Given the description of an element on the screen output the (x, y) to click on. 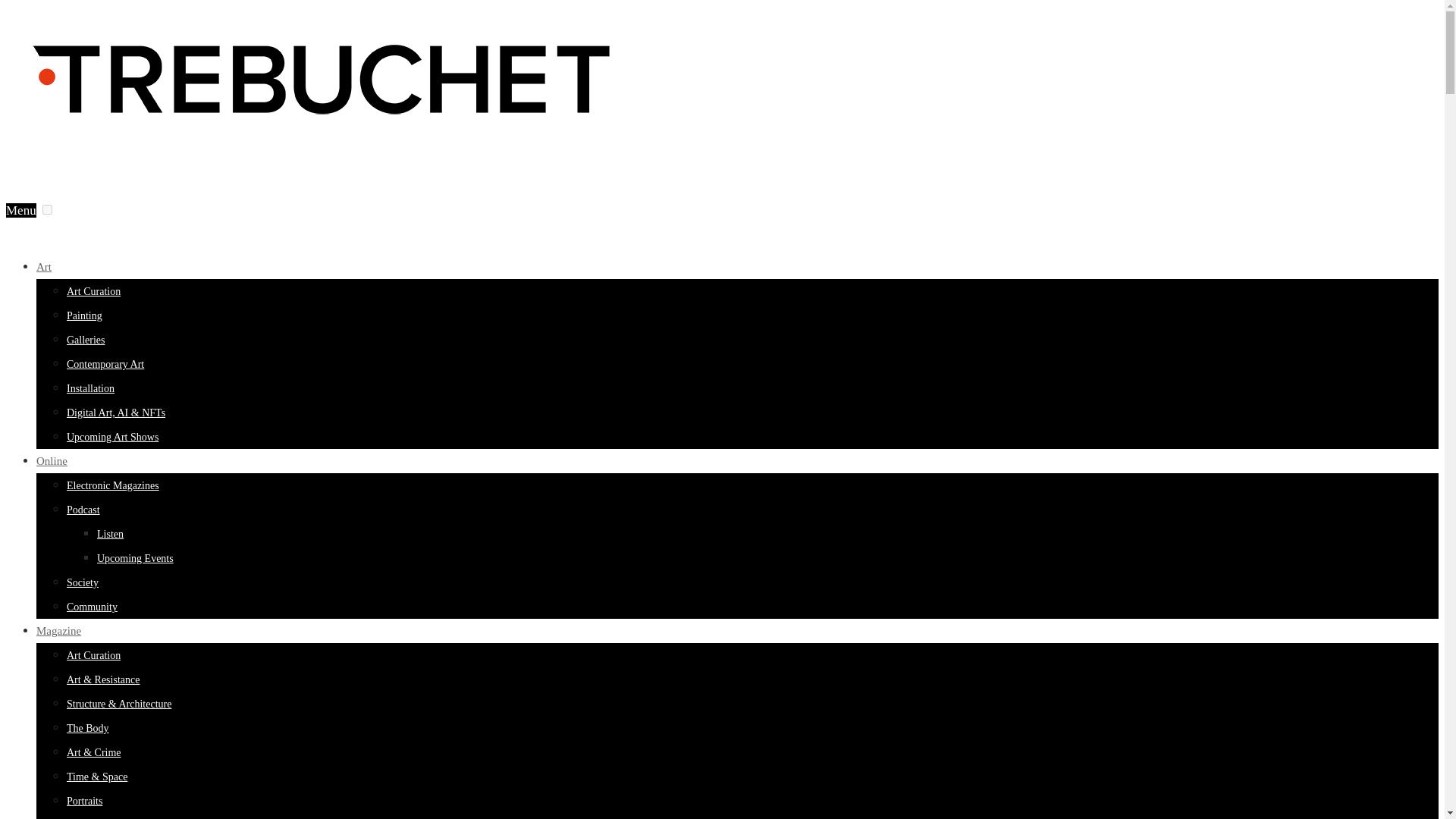
Contemporary Art (105, 364)
Installation (90, 388)
Community (91, 606)
Painting (83, 315)
Society (82, 582)
Art (43, 266)
The Body (87, 727)
Galleries (85, 339)
Art (43, 266)
Upcoming Events (135, 558)
Magazine (58, 630)
Online (51, 460)
Art Curation (93, 291)
Listen (110, 533)
on (47, 209)
